Given the description of an element on the screen output the (x, y) to click on. 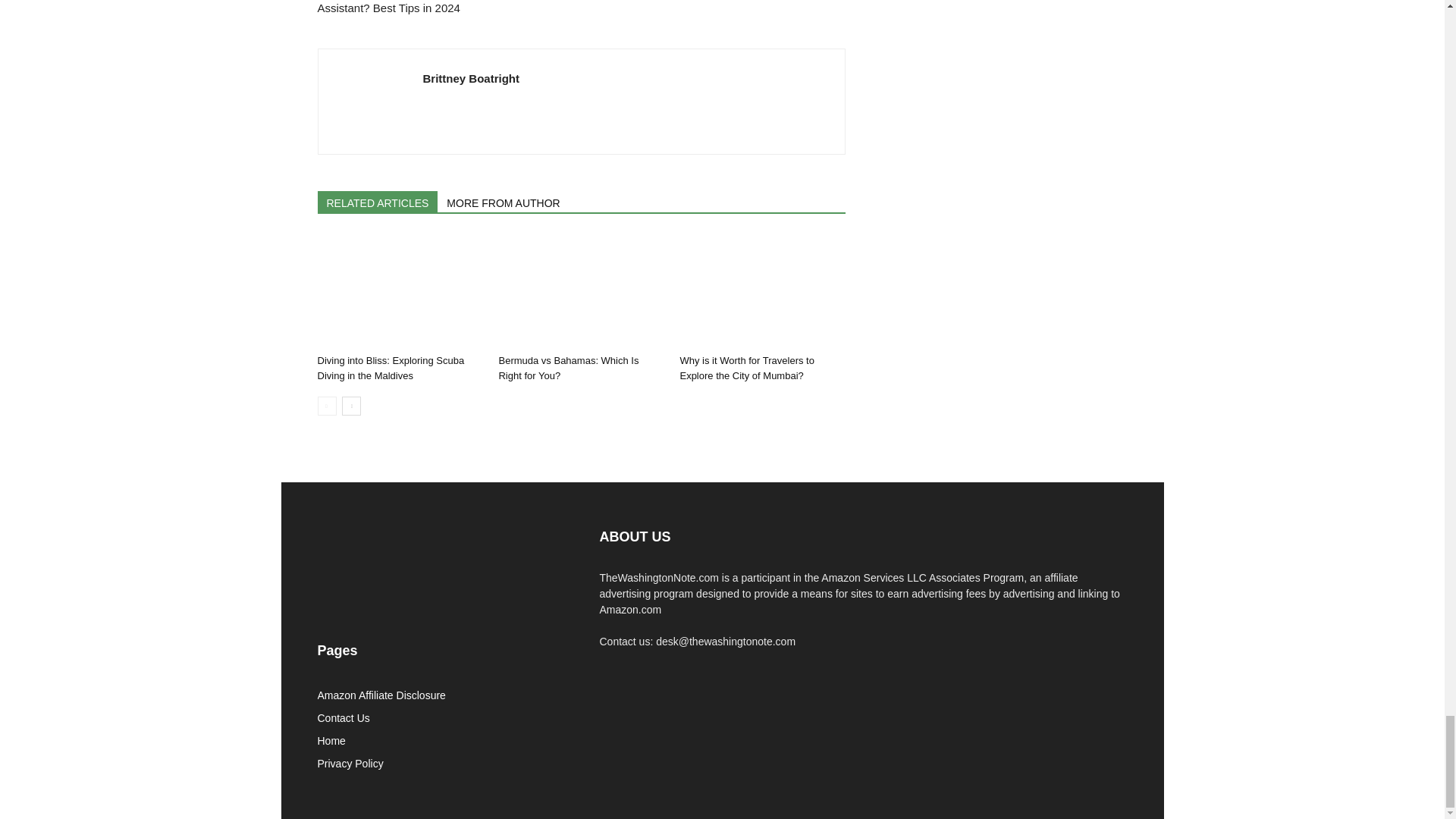
Bermuda vs Bahamas: Which Is Right for You? (568, 367)
Why is it Worth for Travelers to Explore the City of Mumbai? (746, 367)
Diving into Bliss: Exploring Scuba Diving in the Maldives (390, 367)
Bermuda vs Bahamas: Which Is Right for You? (580, 291)
Diving into Bliss: Exploring Scuba Diving in the Maldives (399, 291)
Why is it Worth for Travelers to Explore the City of Mumbai? (761, 291)
